Given the description of an element on the screen output the (x, y) to click on. 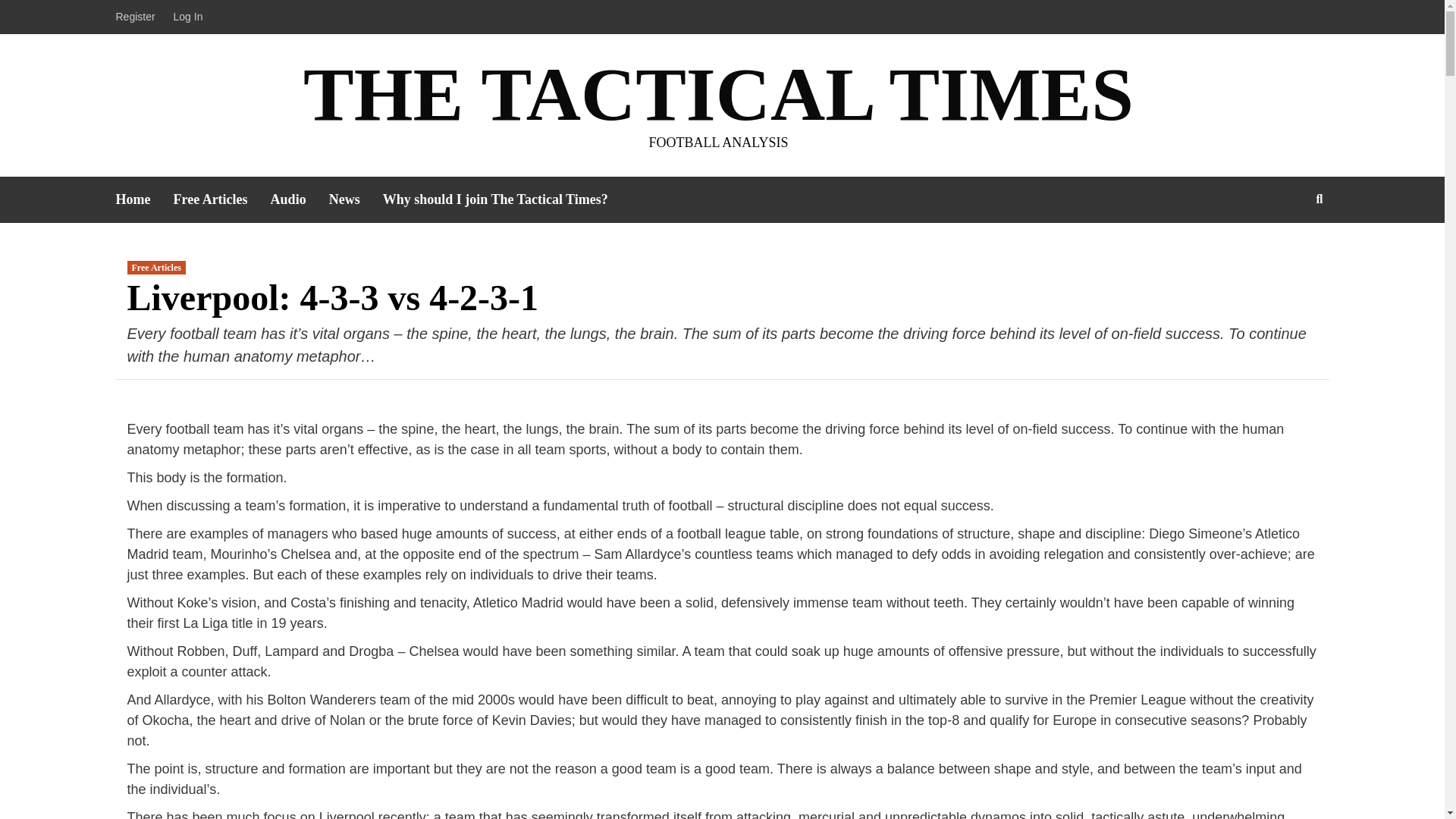
Why should I join The Tactical Times? (506, 199)
Home (144, 199)
News (355, 199)
Register (138, 17)
Log In (188, 17)
THE TACTICAL TIMES (718, 94)
Free Articles (157, 267)
Search (1283, 247)
Audio (299, 199)
Free Articles (221, 199)
